Given the description of an element on the screen output the (x, y) to click on. 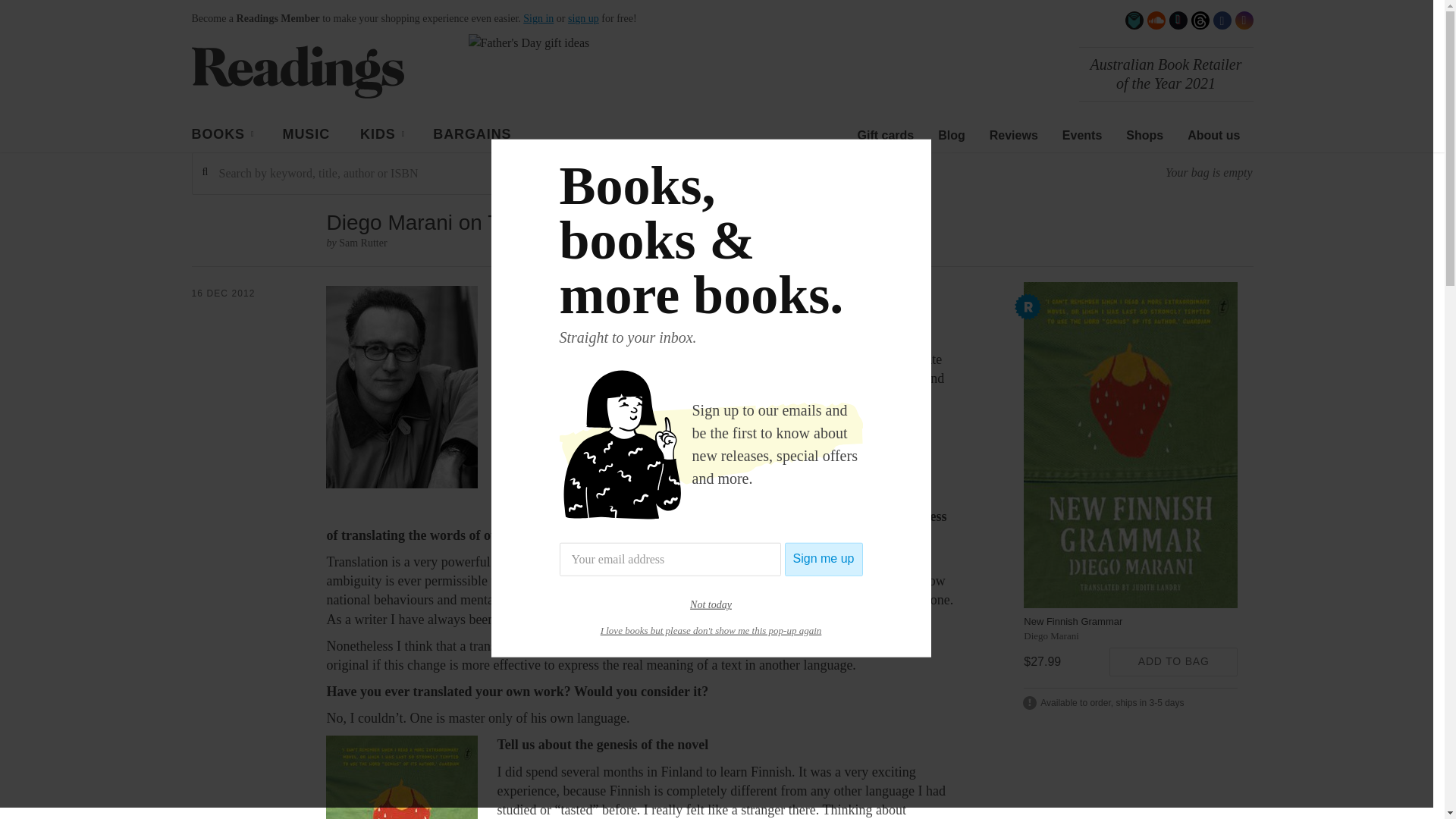
Readings (297, 71)
BOOKS (221, 136)
I love books but please don't show me this pop-up again (710, 629)
Sign me up (823, 559)
KIDS (381, 136)
sign up (582, 18)
Sign in (537, 18)
Not today (711, 604)
MUSIC (306, 135)
